Given the description of an element on the screen output the (x, y) to click on. 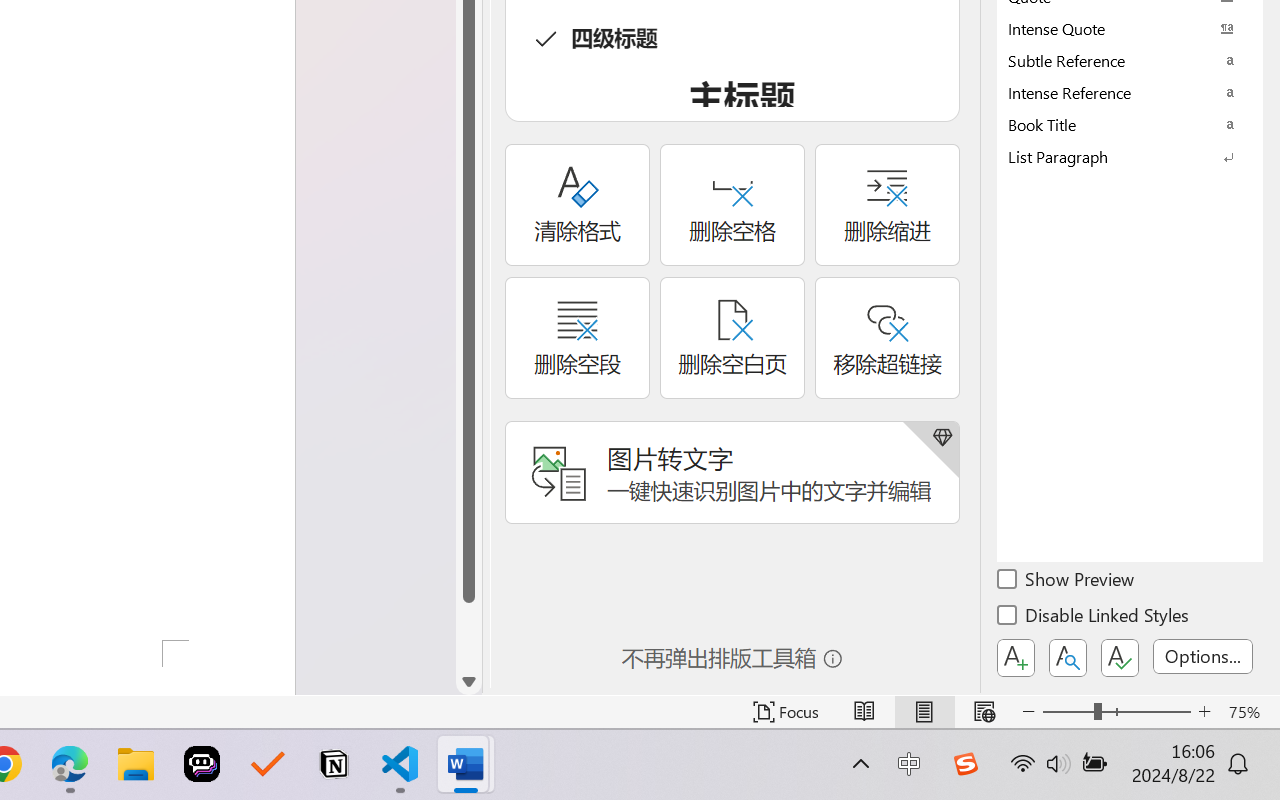
Page down (468, 635)
Line down (468, 681)
Zoom Out (1067, 712)
Show Preview (1067, 582)
Web Layout (984, 712)
Zoom (1116, 712)
